Given the description of an element on the screen output the (x, y) to click on. 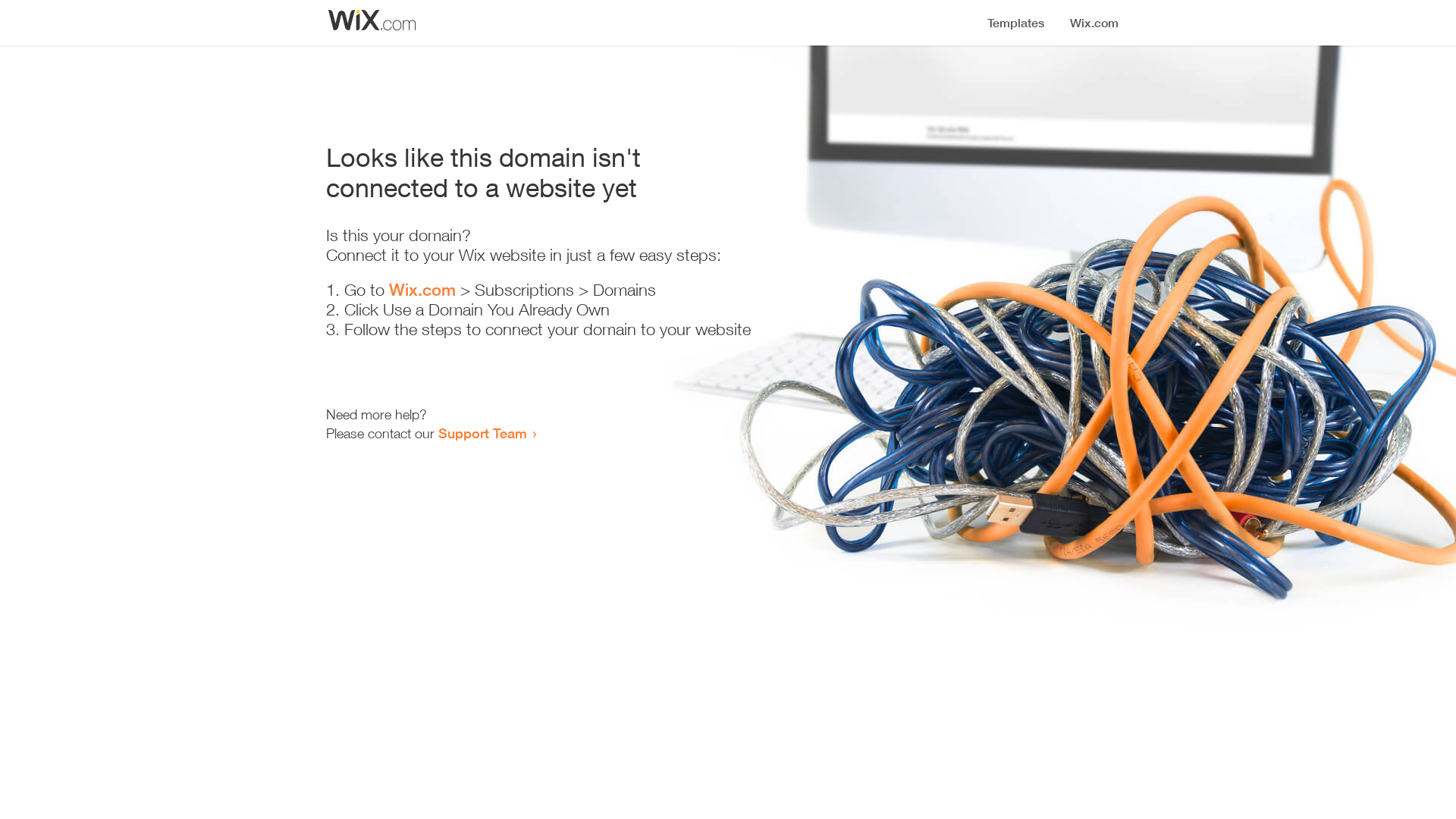
Support Team Element type: text (482, 432)
Wix.com Element type: text (422, 289)
